Given the description of an element on the screen output the (x, y) to click on. 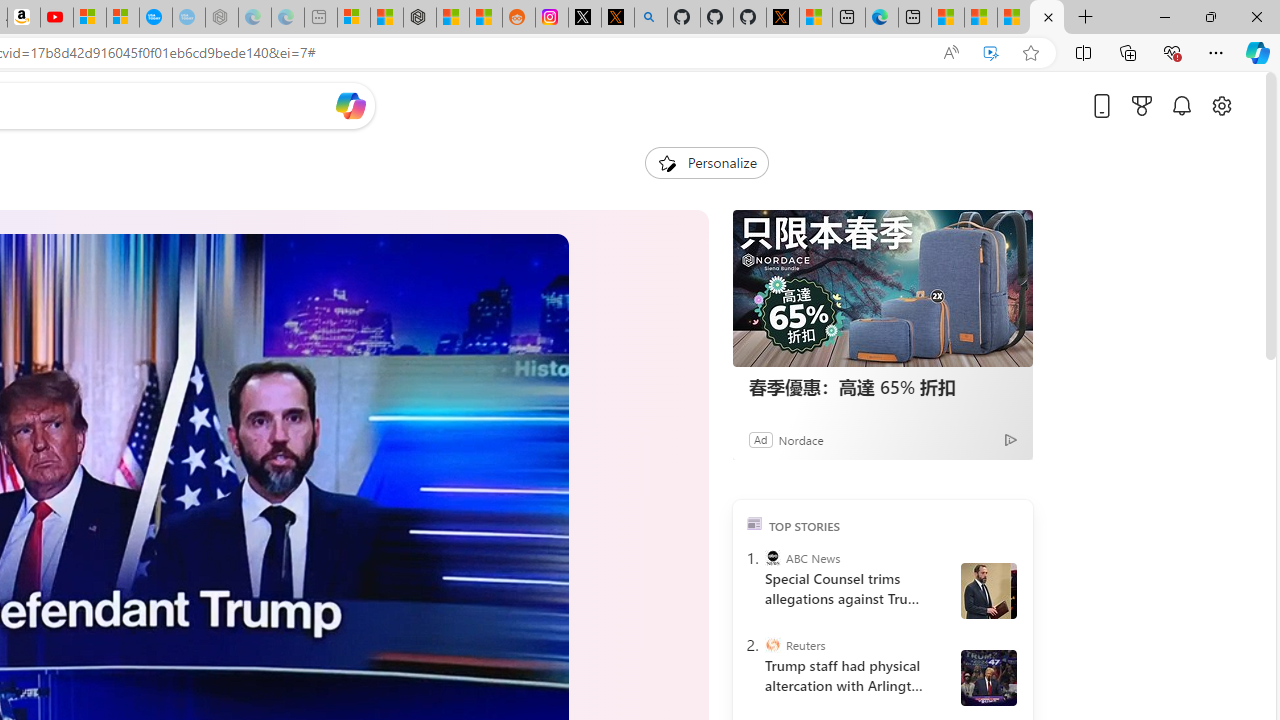
Microsoft rewards (1142, 105)
Reuters (772, 645)
Log in to X / X (585, 17)
The most popular Google 'how to' searches - Sleeping (188, 17)
Nordace - Nordace has arrived Hong Kong - Sleeping (222, 17)
